Given the description of an element on the screen output the (x, y) to click on. 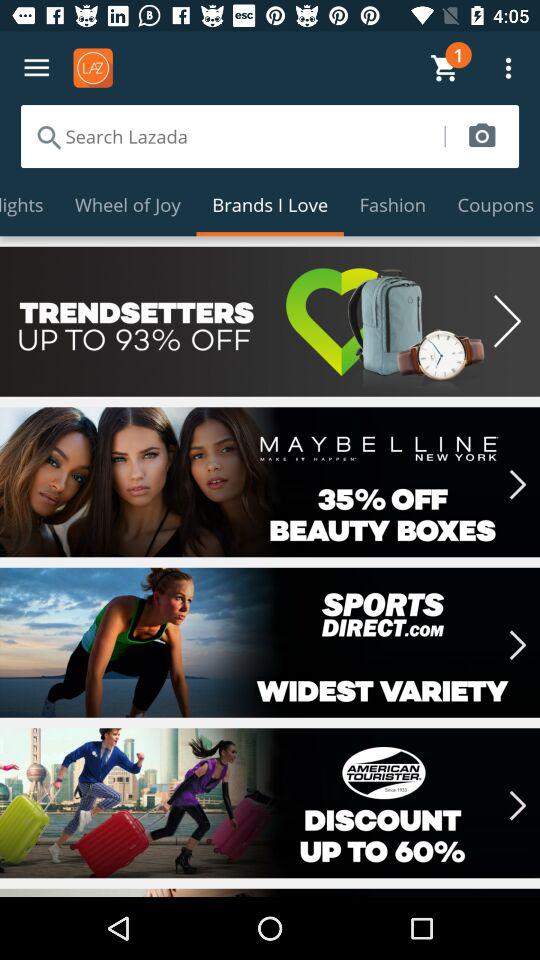
view menu (36, 68)
